Given the description of an element on the screen output the (x, y) to click on. 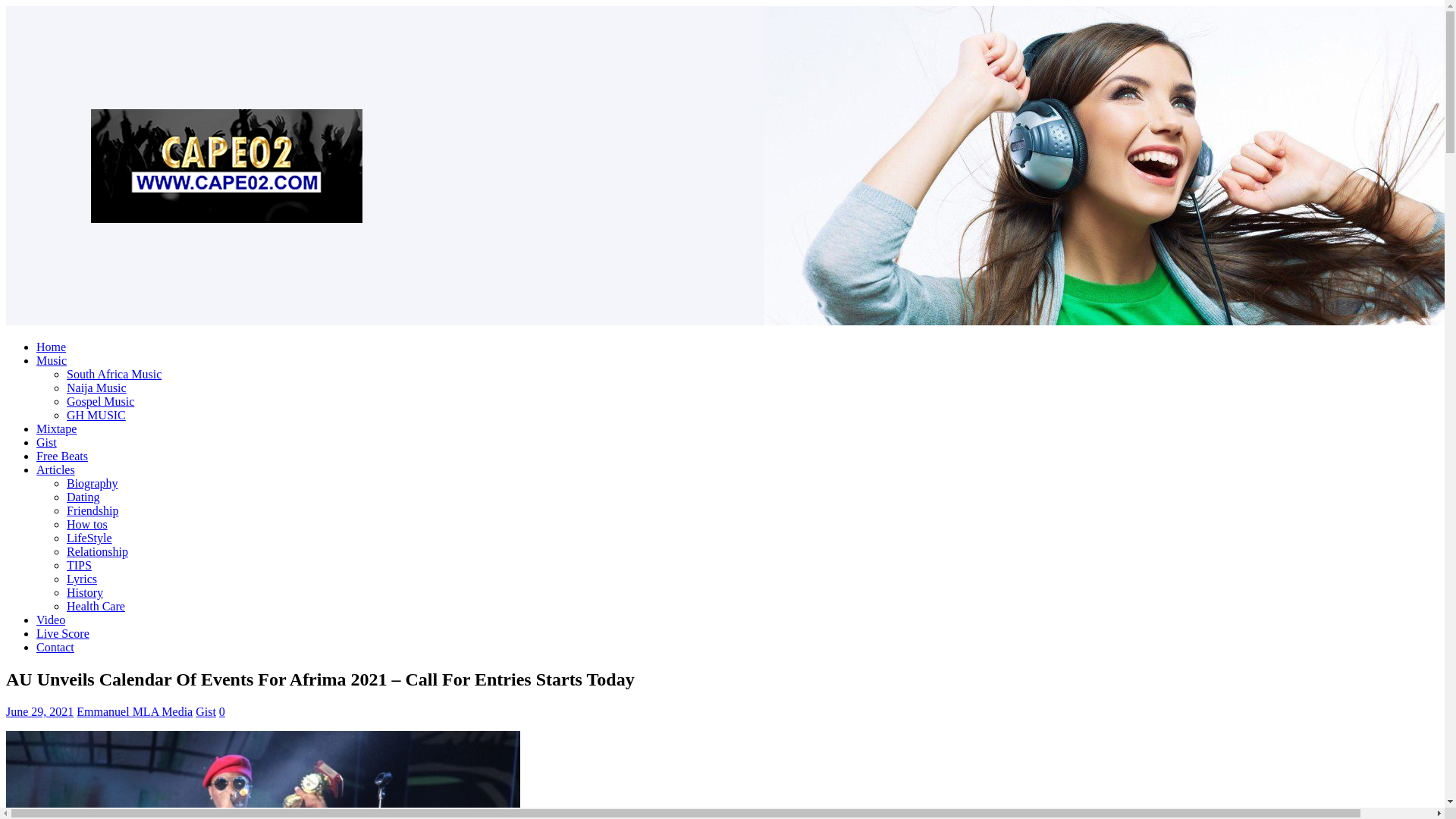
South Africa Music (113, 373)
June 29, 2021 (39, 711)
Articles (55, 469)
Dating (83, 496)
Music (51, 359)
Mixtape (56, 428)
Friendship (91, 510)
WIZKID (262, 775)
History (84, 592)
Biography (91, 482)
